Given the description of an element on the screen output the (x, y) to click on. 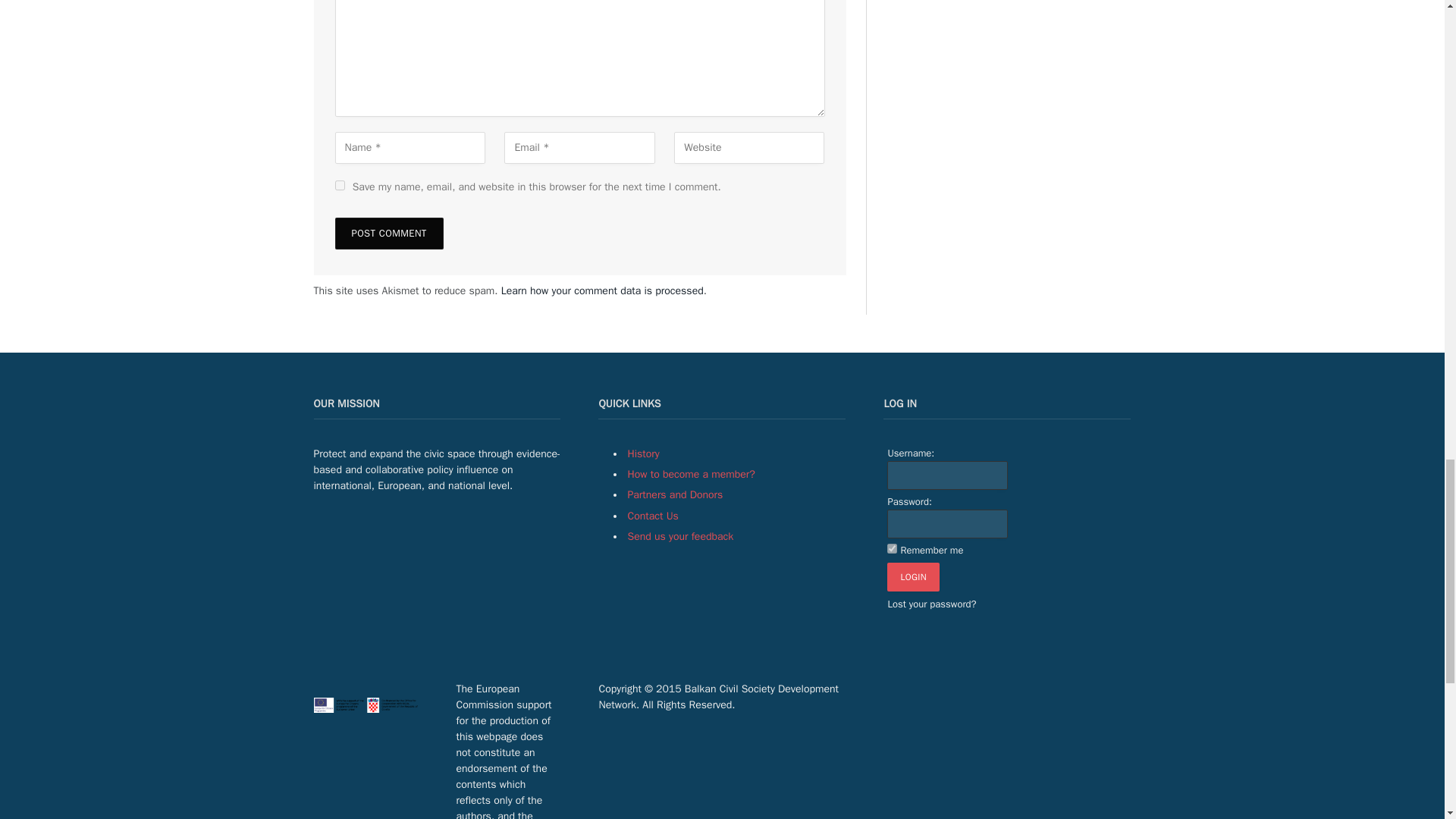
Login (912, 576)
forever (891, 548)
yes (339, 185)
Post Comment (389, 233)
